Given the description of an element on the screen output the (x, y) to click on. 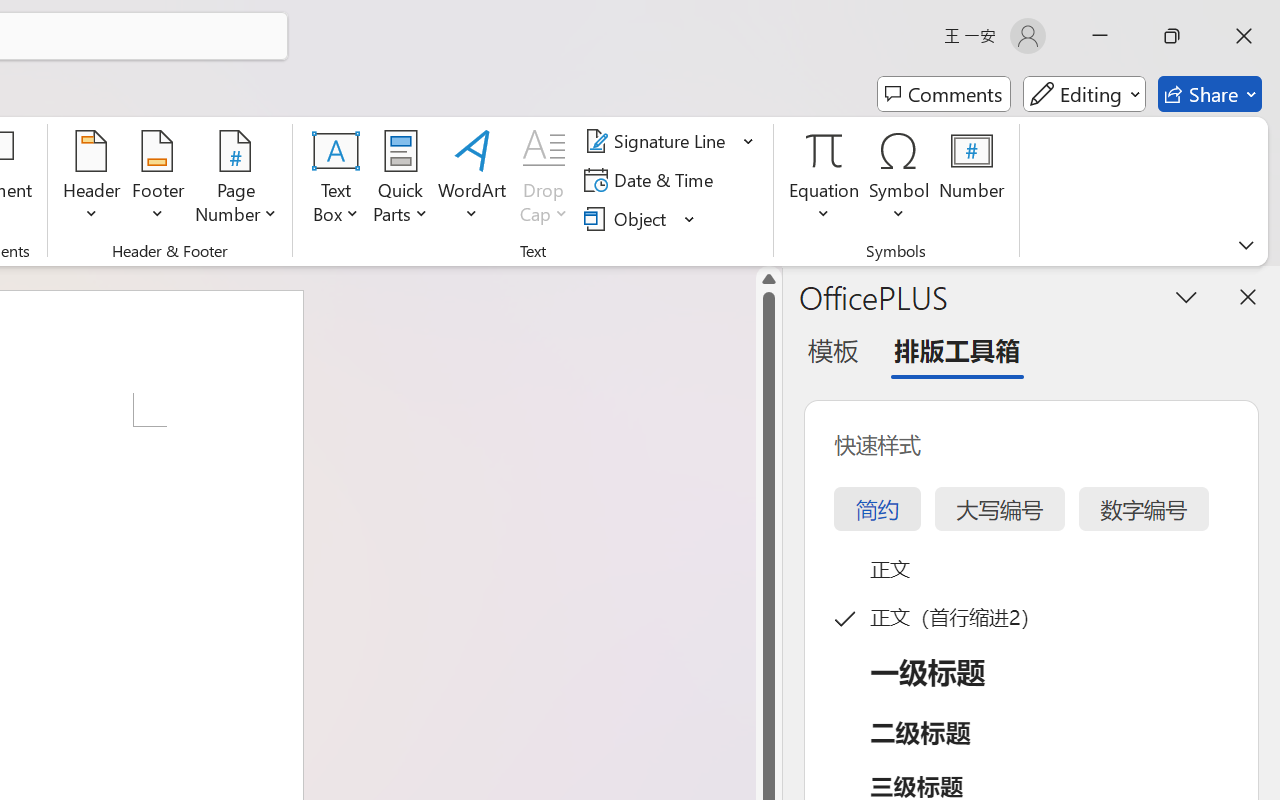
WordArt (472, 179)
Quick Parts (400, 179)
Footer (157, 179)
Object... (640, 218)
Date & Time... (651, 179)
Object... (628, 218)
Header (92, 179)
